Given the description of an element on the screen output the (x, y) to click on. 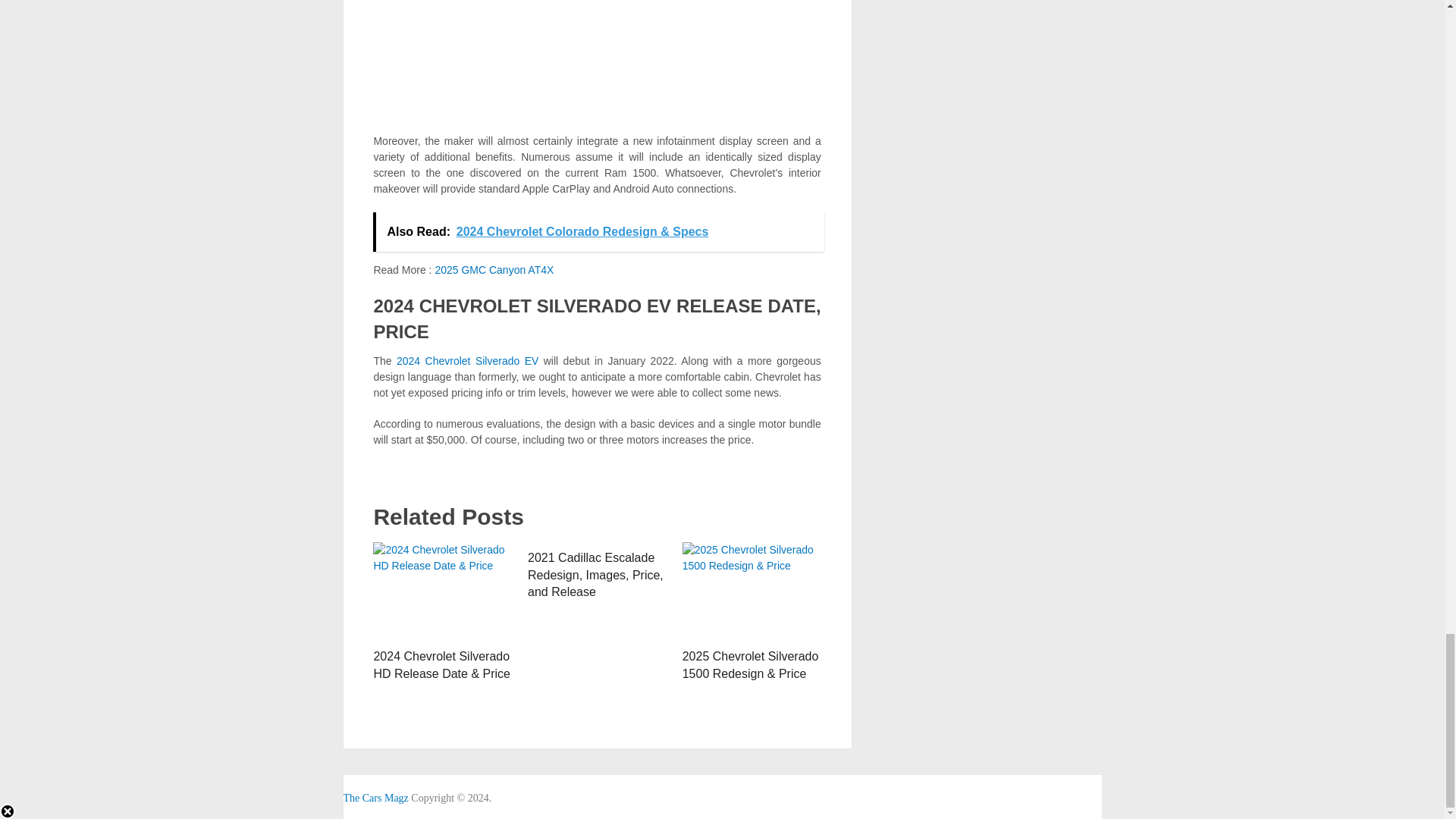
2025 GMC Canyon AT4X (493, 269)
The Cars Magz (374, 797)
2024 Chevrolet Silverado EV (467, 360)
2021 Cadillac Escalade Redesign, Images, Price, and Release (595, 574)
2021 Cadillac Escalade Redesign, Images, Price, and Release (595, 574)
